Given the description of an element on the screen output the (x, y) to click on. 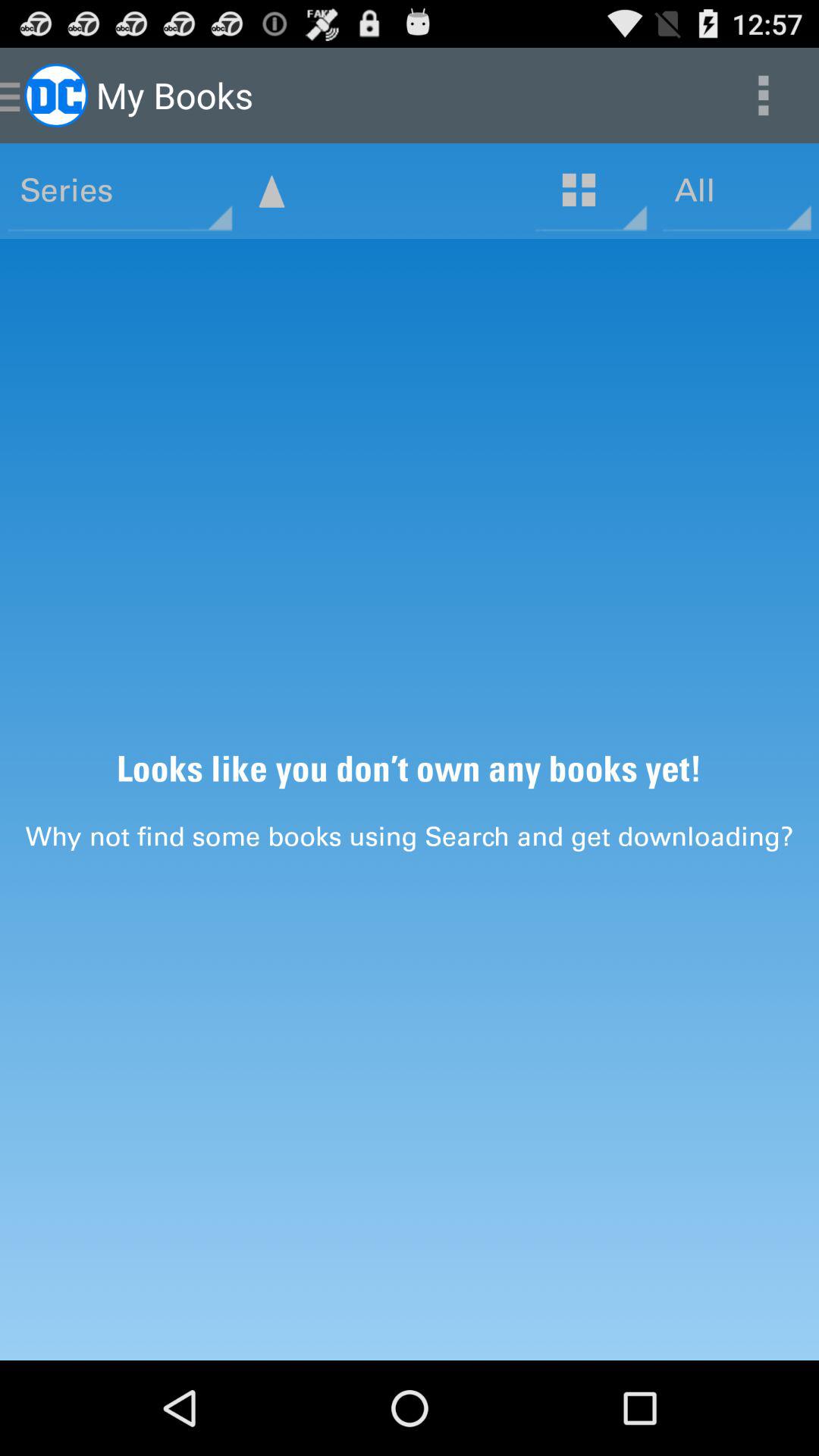
click the item next to series icon (271, 190)
